Given the description of an element on the screen output the (x, y) to click on. 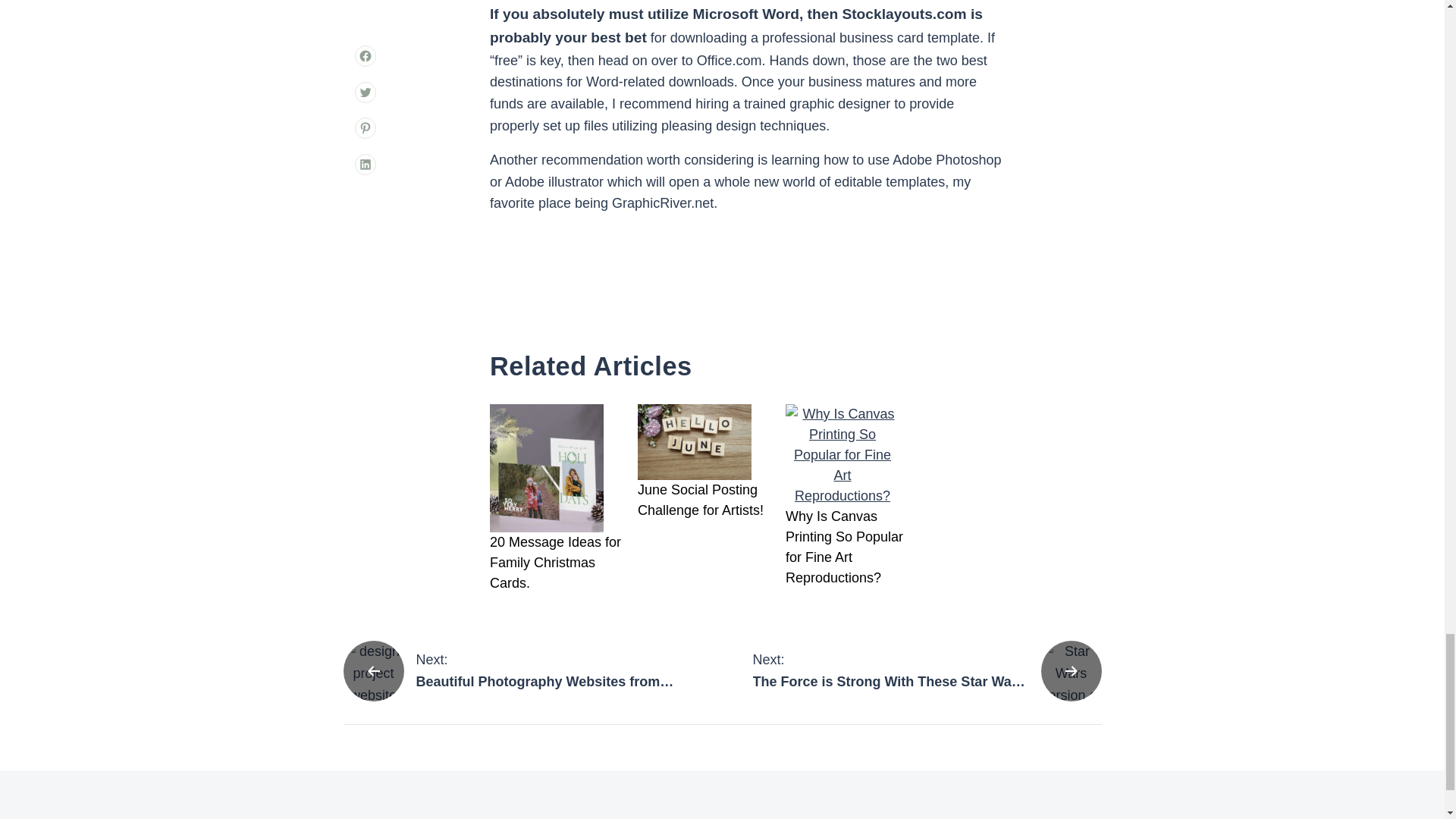
20 Message Ideas for Family Christmas Cards. (557, 562)
June Social Posting Challenge for Artists! (516, 670)
